Given the description of an element on the screen output the (x, y) to click on. 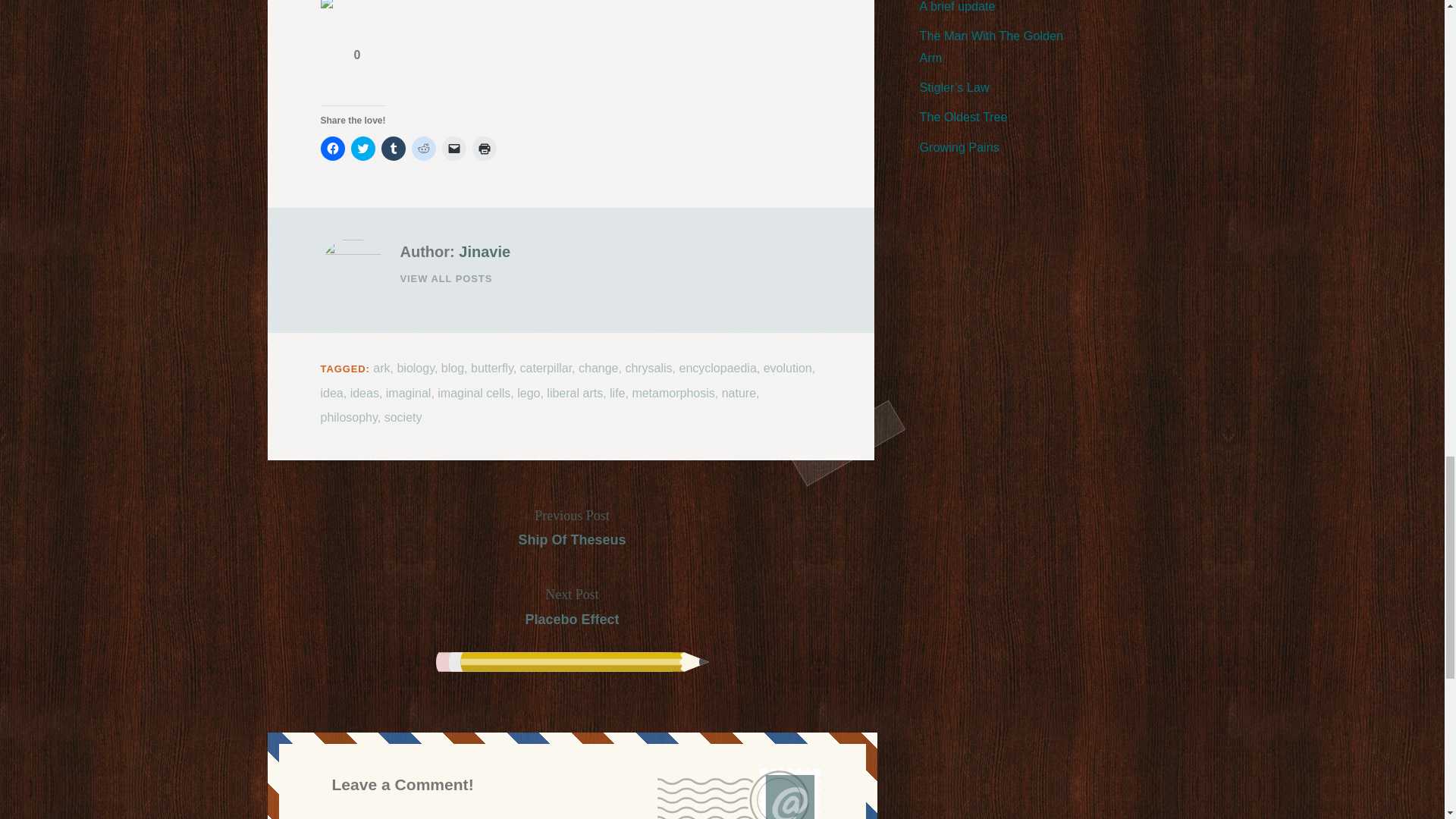
change (598, 367)
Click to share on Reddit (422, 148)
Click to print (483, 148)
encyclopaedia (718, 367)
butterfly (491, 367)
caterpillar (545, 367)
Click to share on Facebook (331, 148)
Click to share on Tumblr (392, 148)
blog (452, 367)
Jinavie (484, 251)
